Given the description of an element on the screen output the (x, y) to click on. 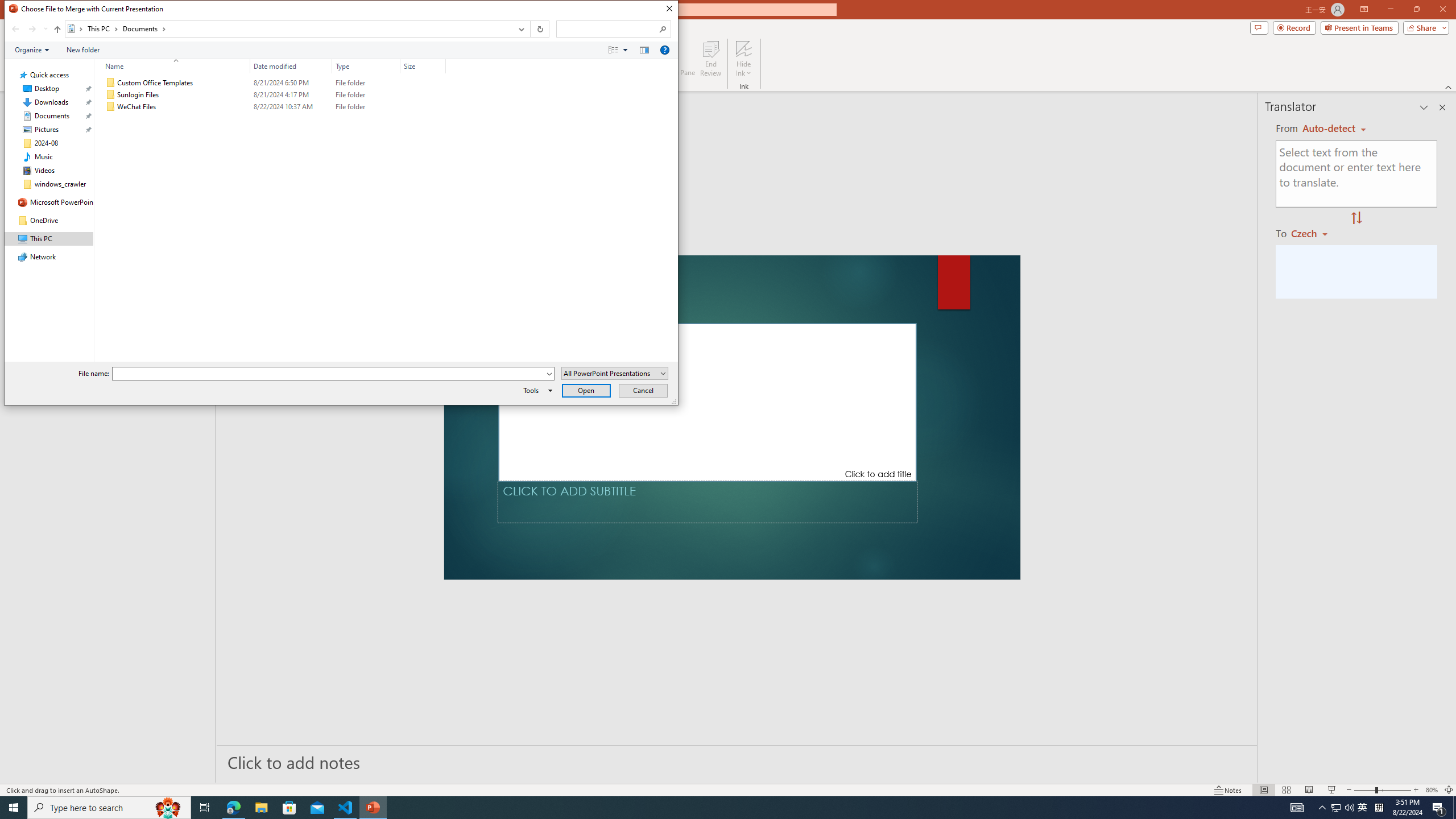
English (1334, 128)
Czech (1313, 232)
Preview pane (644, 49)
Documents (144, 28)
Organize (31, 49)
Swap "from" and "to" languages. (1355, 218)
Recent locations (44, 28)
Hide Ink (743, 48)
Size (422, 106)
